Given the description of an element on the screen output the (x, y) to click on. 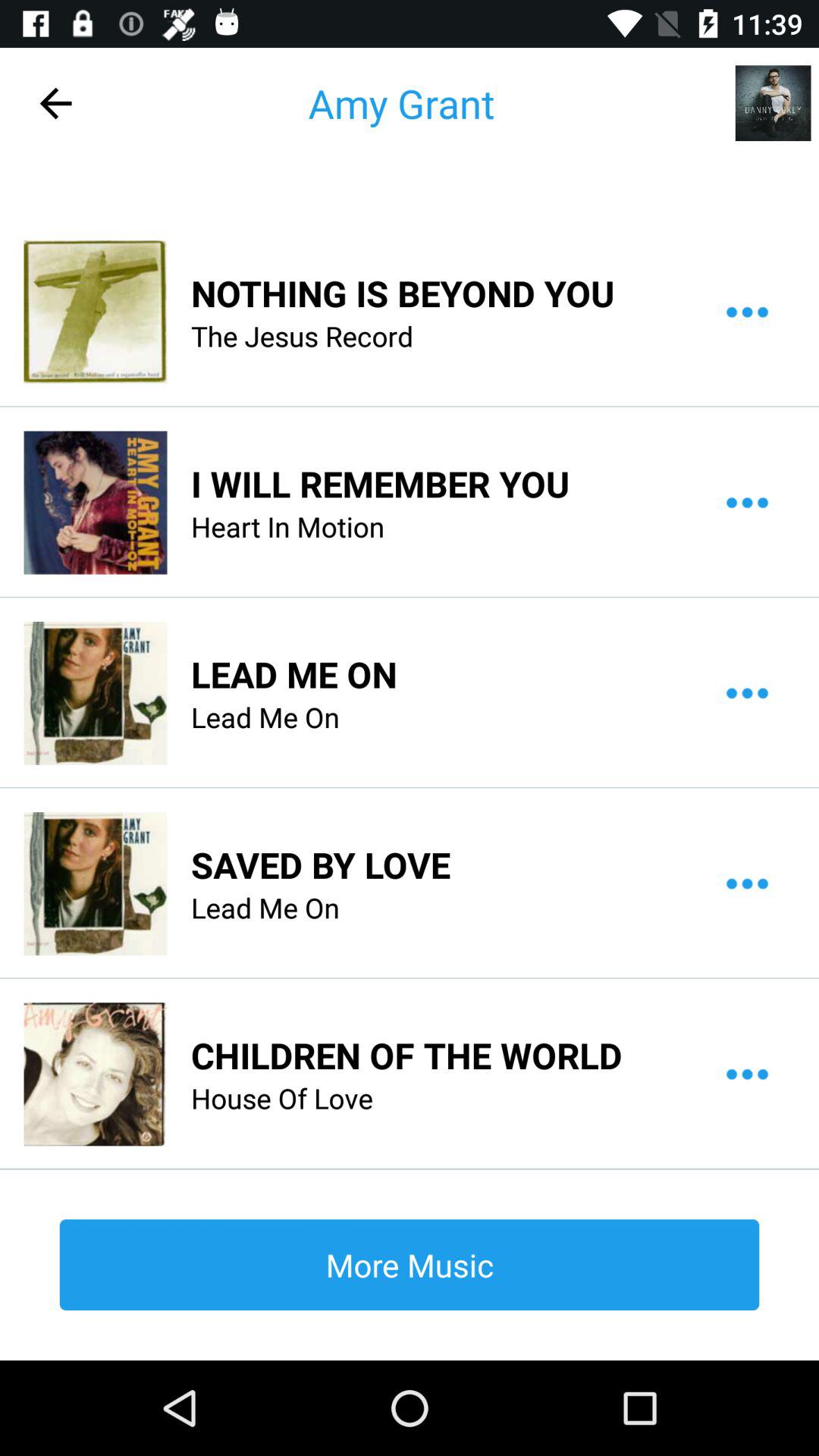
turn on the saved by love (320, 864)
